Given the description of an element on the screen output the (x, y) to click on. 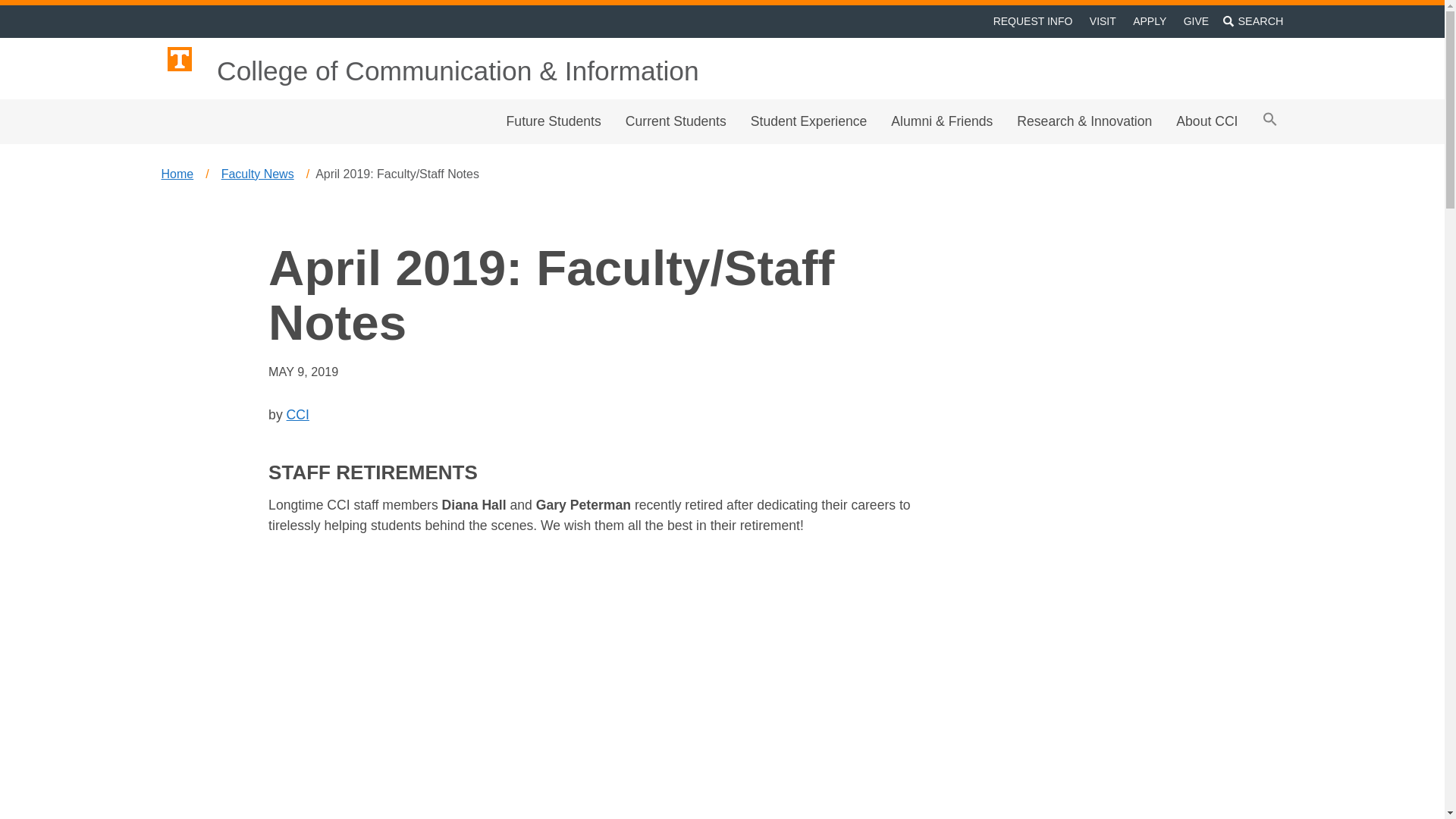
APPLY (1149, 20)
GIVE (1195, 20)
Current Students (675, 121)
REQUEST INFO (1032, 20)
VISIT (1102, 20)
Student Experience (808, 121)
SEARCH (1252, 20)
Future Students (553, 121)
